Given the description of an element on the screen output the (x, y) to click on. 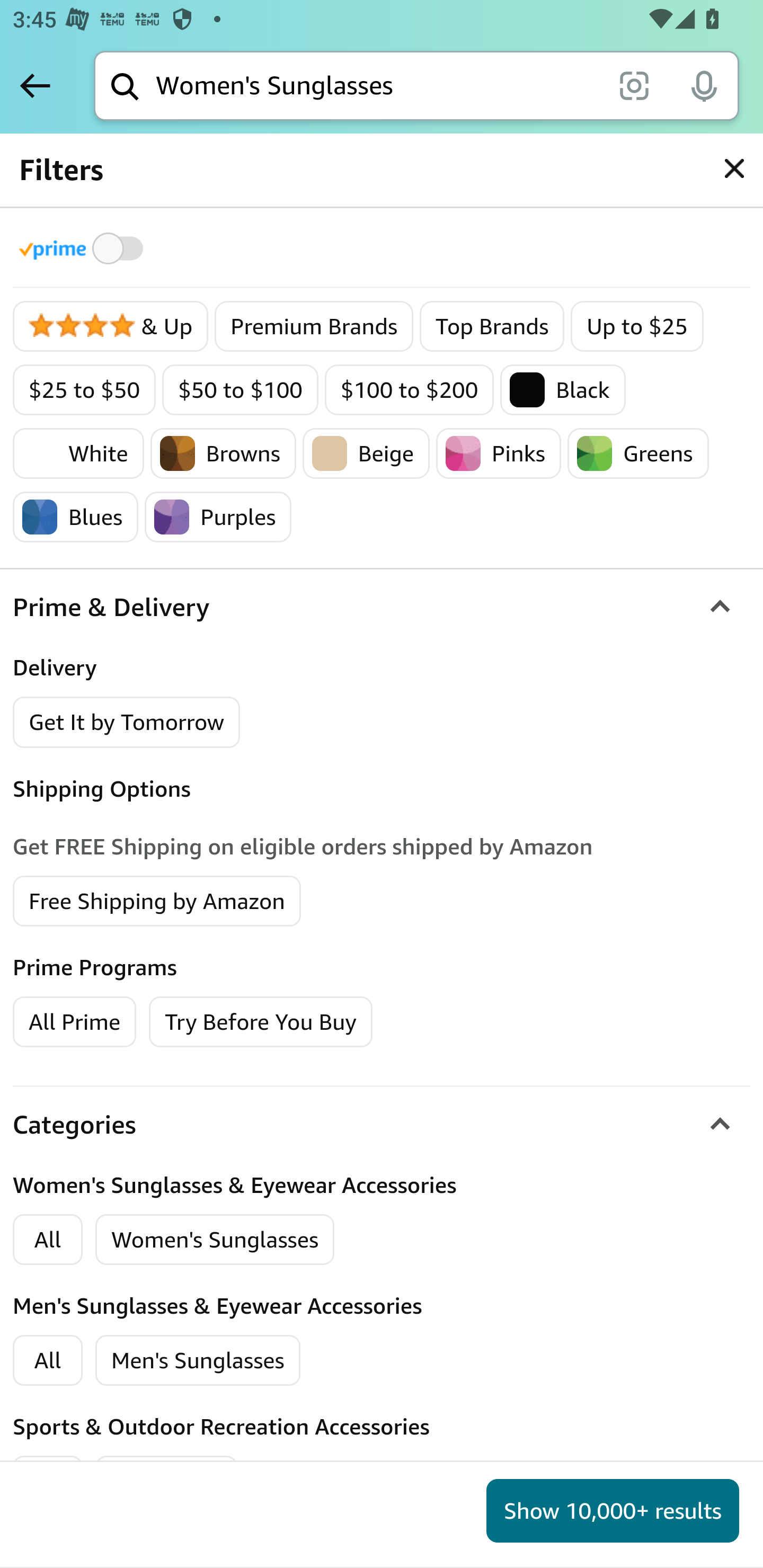
Back (35, 85)
scan it (633, 85)
Toggle to filter by Prime products Prime Eligible (83, 247)
4 Stars & Up (110, 326)
Premium Brands (314, 326)
Top Brands (492, 326)
Up to $25 (637, 326)
$25 to $50 (84, 390)
$50 to $100 (240, 390)
$100 to $200 (409, 390)
Black Black Black Black (562, 390)
White White White White (78, 453)
Browns Browns Browns Browns (223, 453)
Beige Beige Beige Beige (366, 453)
Pinks Pinks Pinks Pinks (497, 453)
Greens Greens Greens Greens (637, 453)
Blues Blues Blues Blues (75, 517)
